Given the description of an element on the screen output the (x, y) to click on. 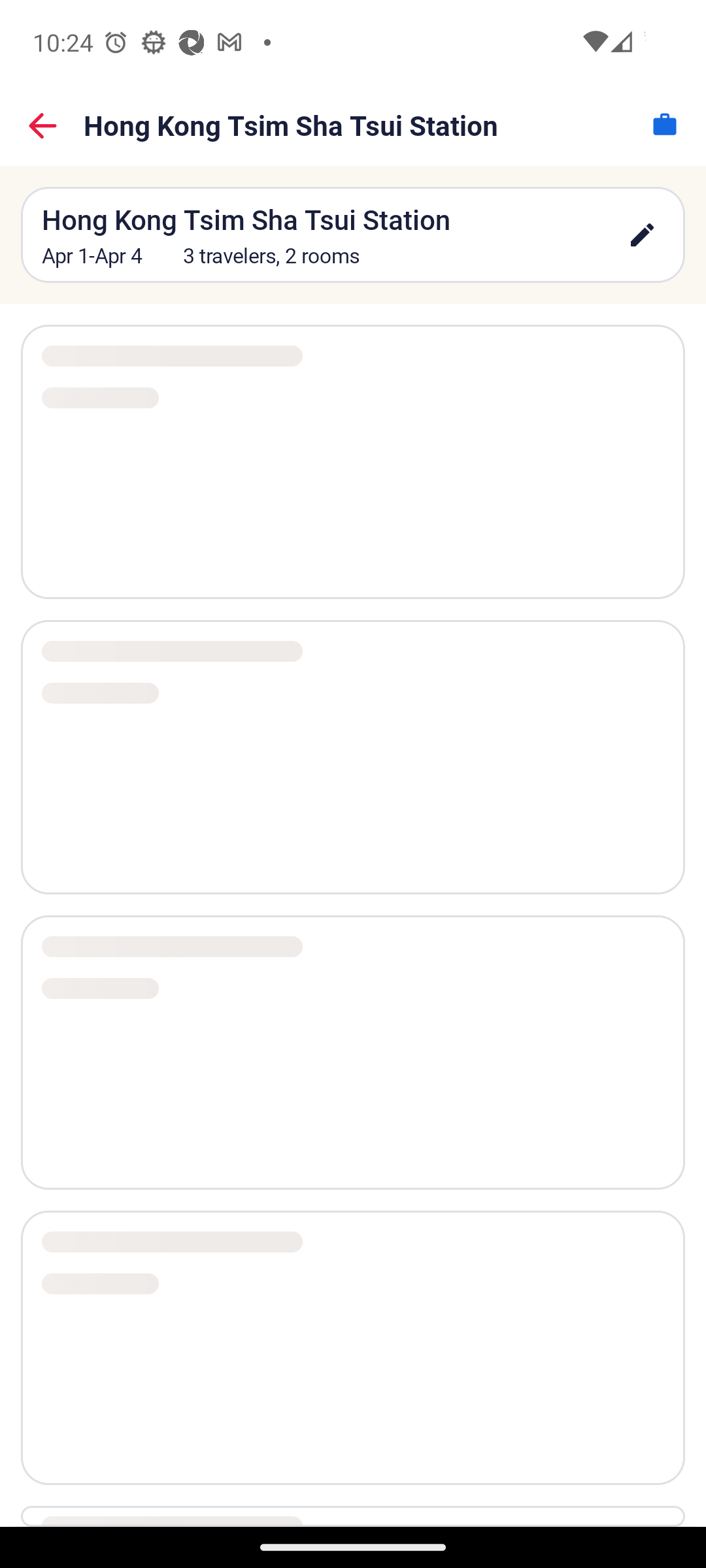
Trips. Button (664, 124)
